Given the description of an element on the screen output the (x, y) to click on. 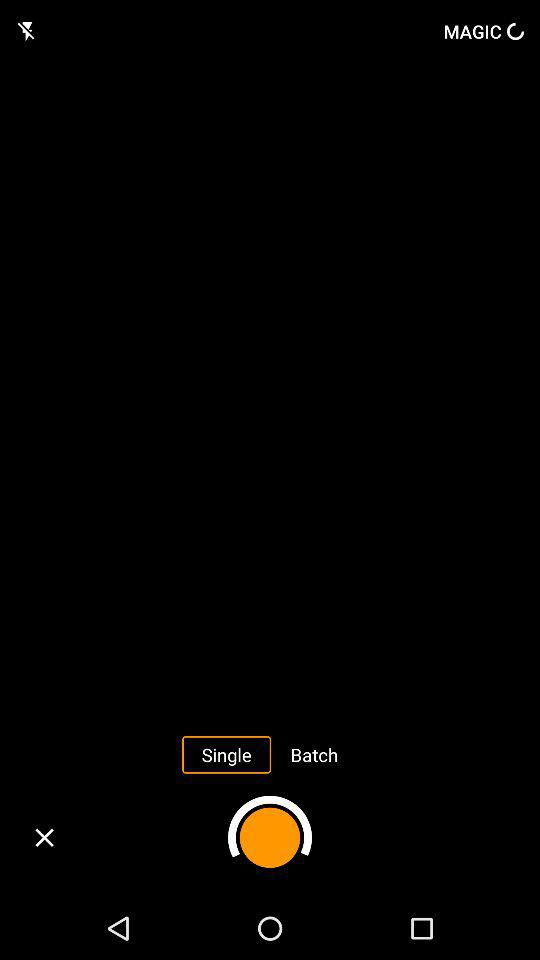
jump until single icon (226, 754)
